Given the description of an element on the screen output the (x, y) to click on. 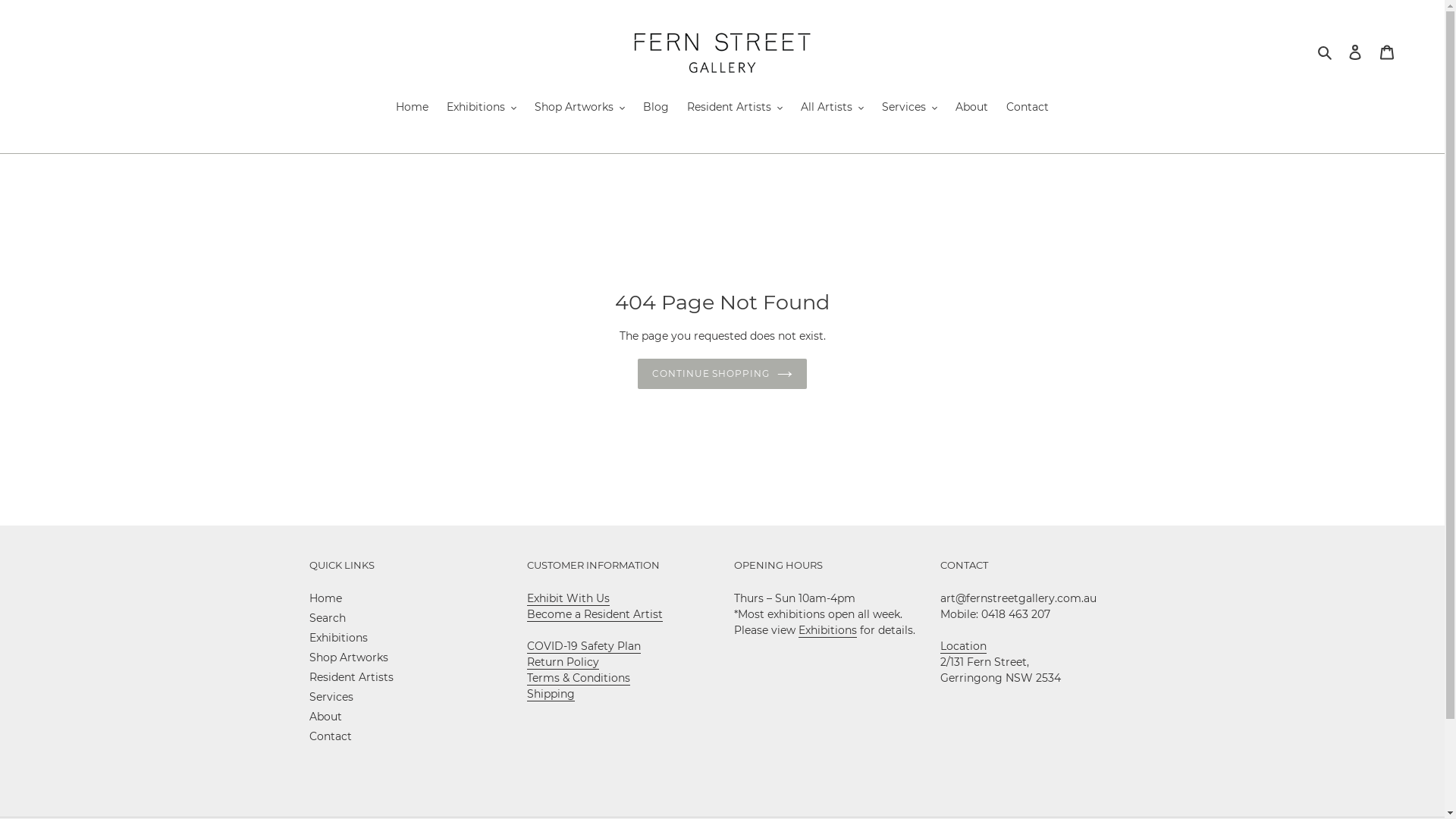
Log in Element type: text (1355, 50)
About Element type: text (971, 108)
Services Element type: text (909, 108)
Exhibitions Element type: text (826, 630)
Home Element type: text (412, 108)
Shop Artworks Element type: text (579, 108)
Shipping Element type: text (550, 694)
Contact Element type: text (330, 736)
Terms & Conditions Element type: text (578, 678)
COVID-19 Safety Plan Element type: text (583, 646)
Search Element type: text (1325, 50)
About Element type: text (325, 716)
Return Policy Element type: text (563, 662)
Contact Element type: text (1027, 108)
All Artists Element type: text (832, 108)
Search Element type: text (327, 617)
Cart Element type: text (1386, 50)
Resident Artists Element type: text (734, 108)
Services Element type: text (331, 696)
Blog Element type: text (655, 108)
Exhibitions Element type: text (338, 637)
Resident Artists Element type: text (351, 677)
CONTINUE SHOPPING Element type: text (721, 373)
Location Element type: text (963, 646)
Become a Resident Artist Element type: text (594, 614)
Exhibit With Us Element type: text (568, 598)
Home Element type: text (325, 598)
Exhibitions Element type: text (481, 108)
Shop Artworks Element type: text (348, 657)
